Given the description of an element on the screen output the (x, y) to click on. 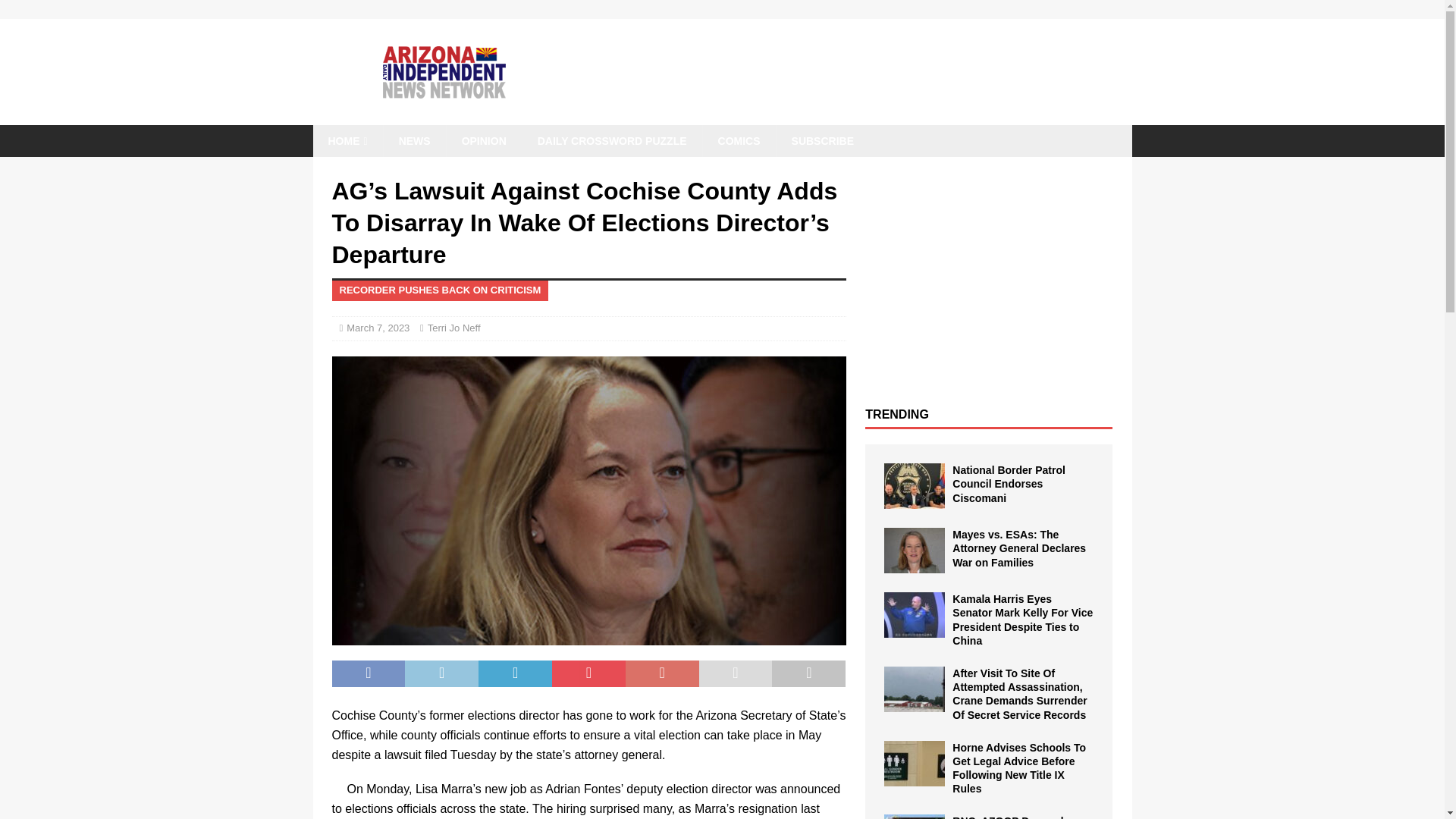
NEWS (413, 141)
Terri Jo Neff (454, 327)
SUBSCRIBE (822, 141)
HOME (347, 141)
OPINION (483, 141)
National Border Patrol Council Endorses Ciscomani (913, 485)
March 7, 2023 (377, 327)
